Given the description of an element on the screen output the (x, y) to click on. 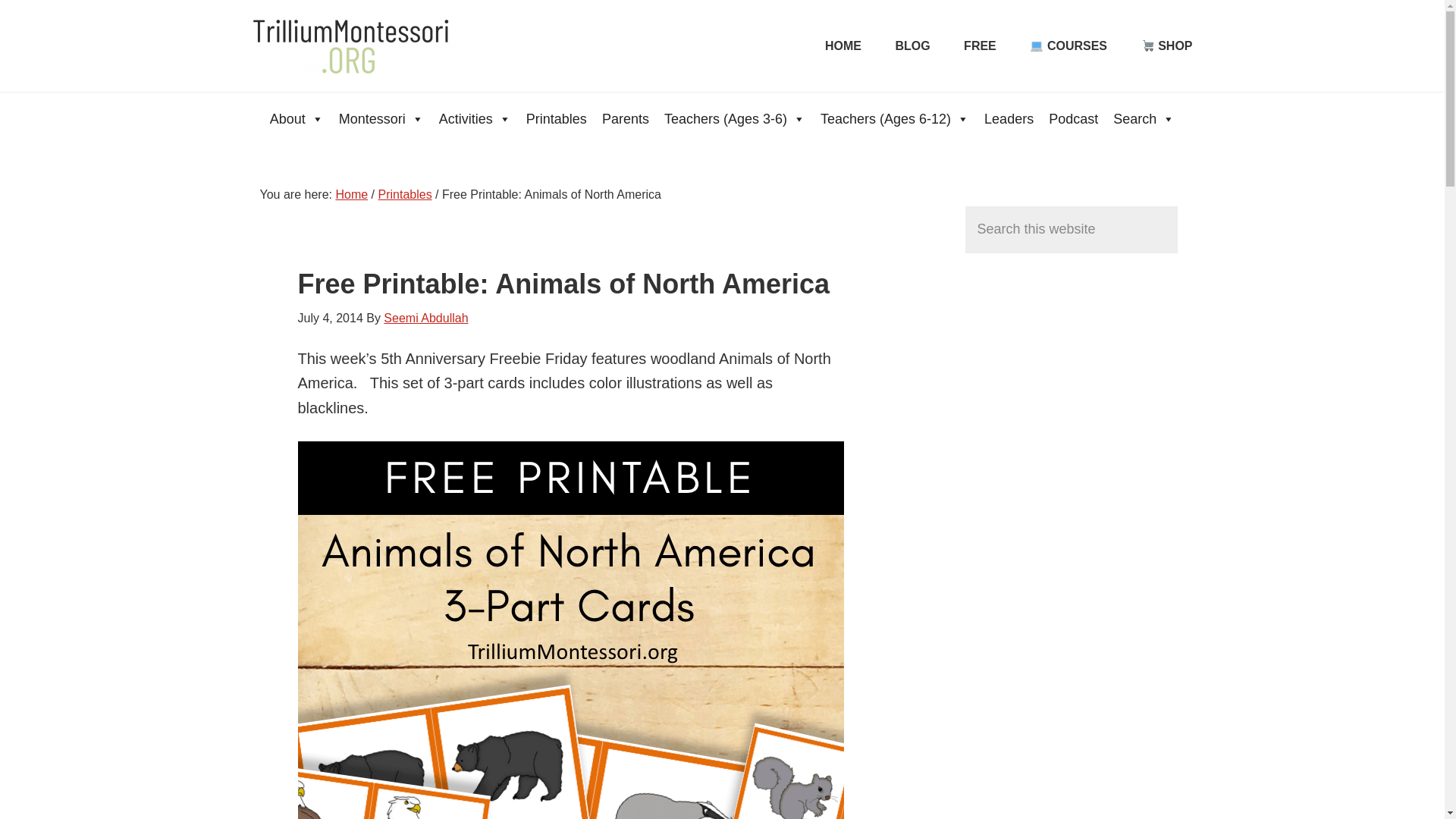
About (296, 118)
SHOP (1166, 45)
HOME (842, 45)
FREE (980, 45)
COURSES (1068, 45)
BLOG (911, 45)
Trillium Montessori (349, 45)
Activities (474, 118)
Montessori (380, 118)
